Given the description of an element on the screen output the (x, y) to click on. 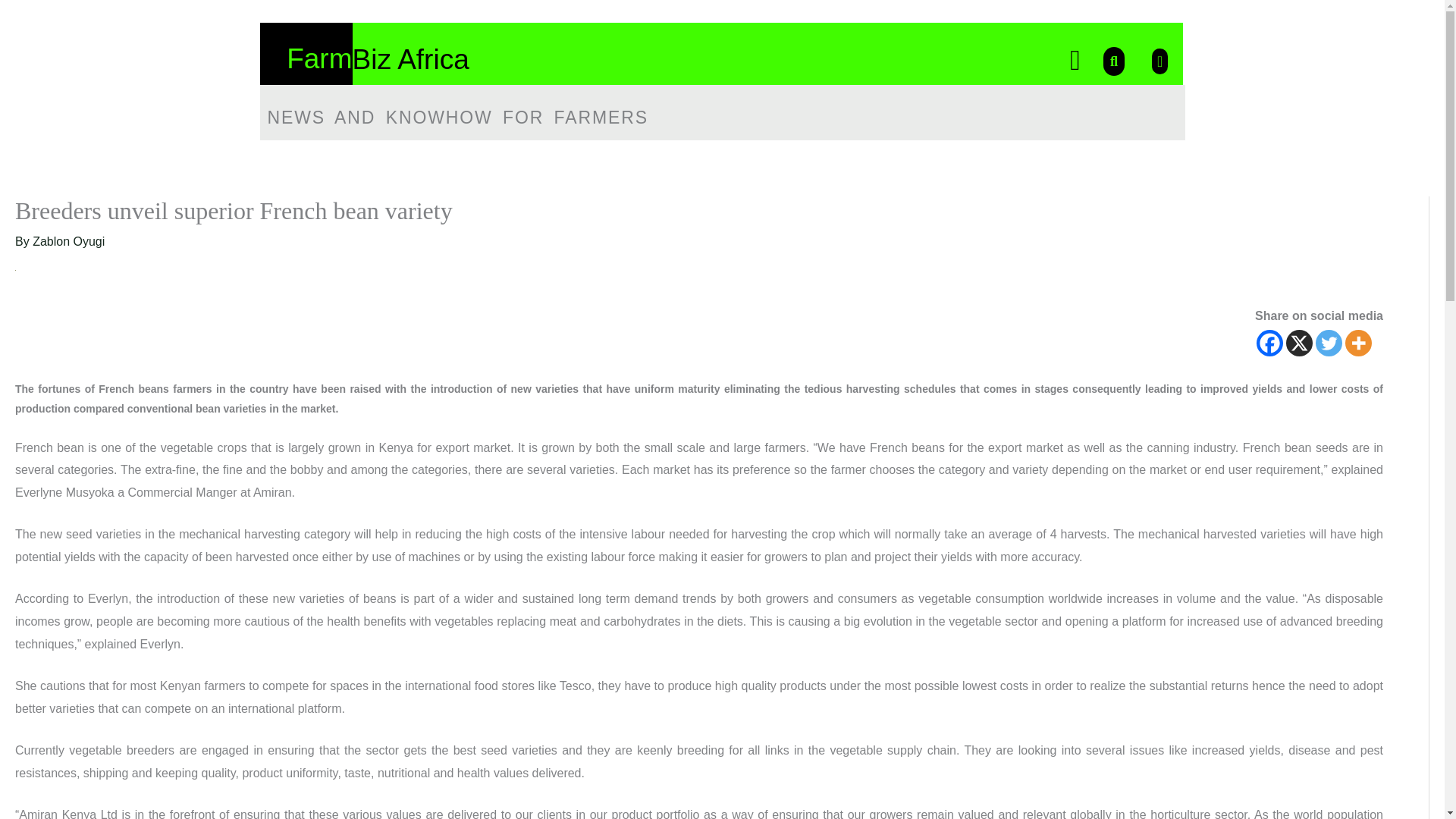
Zablon Oyugi (68, 241)
View all posts by Zablon Oyugi (68, 241)
Facebook (1269, 343)
More (1358, 343)
Farm (319, 58)
Biz Africa (410, 59)
Twitter (1329, 343)
X (1299, 343)
